Given the description of an element on the screen output the (x, y) to click on. 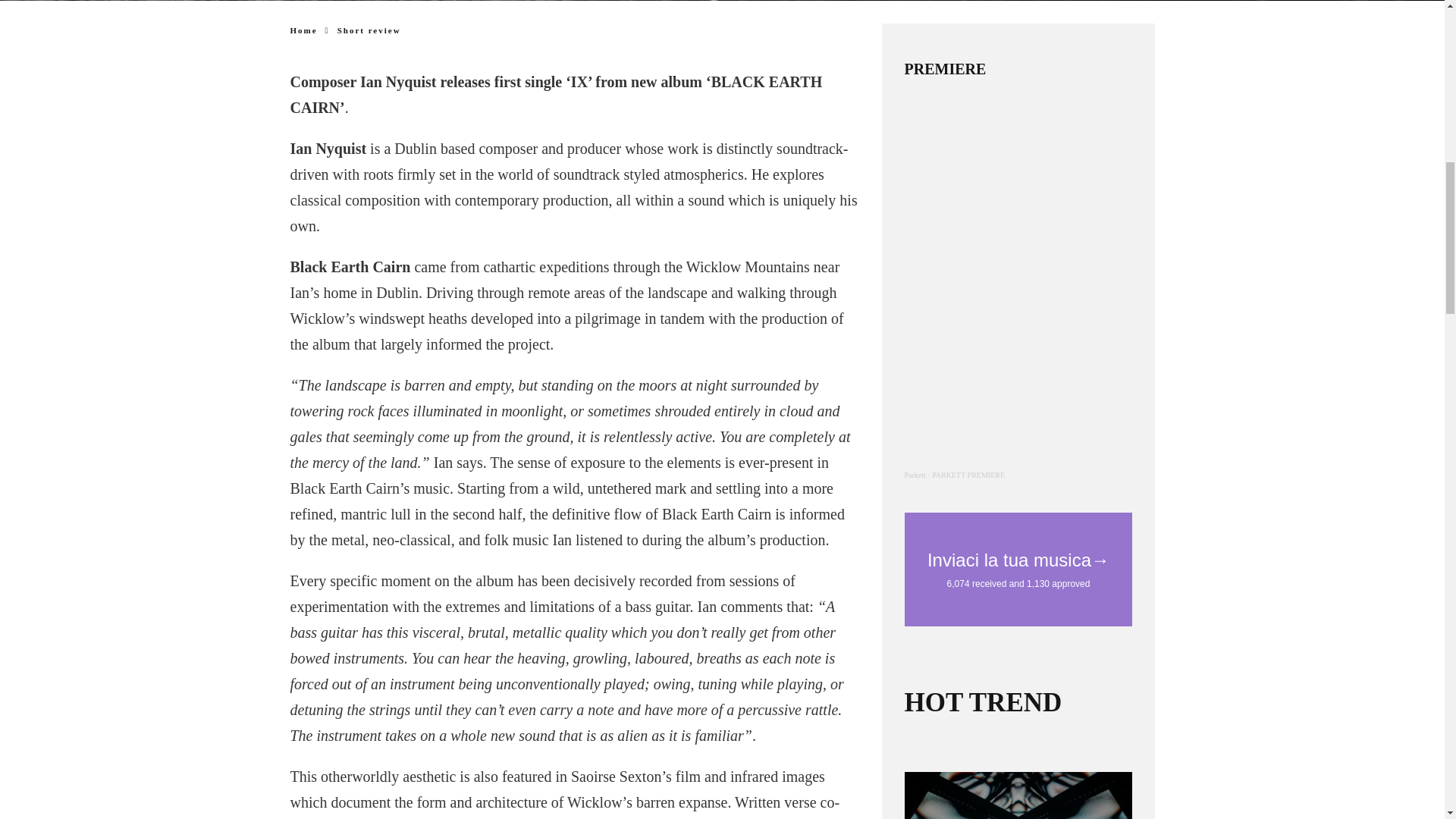
Parkett (914, 474)
View all posts in Short review (369, 30)
PARKETT PREMIERE (967, 474)
